Given the description of an element on the screen output the (x, y) to click on. 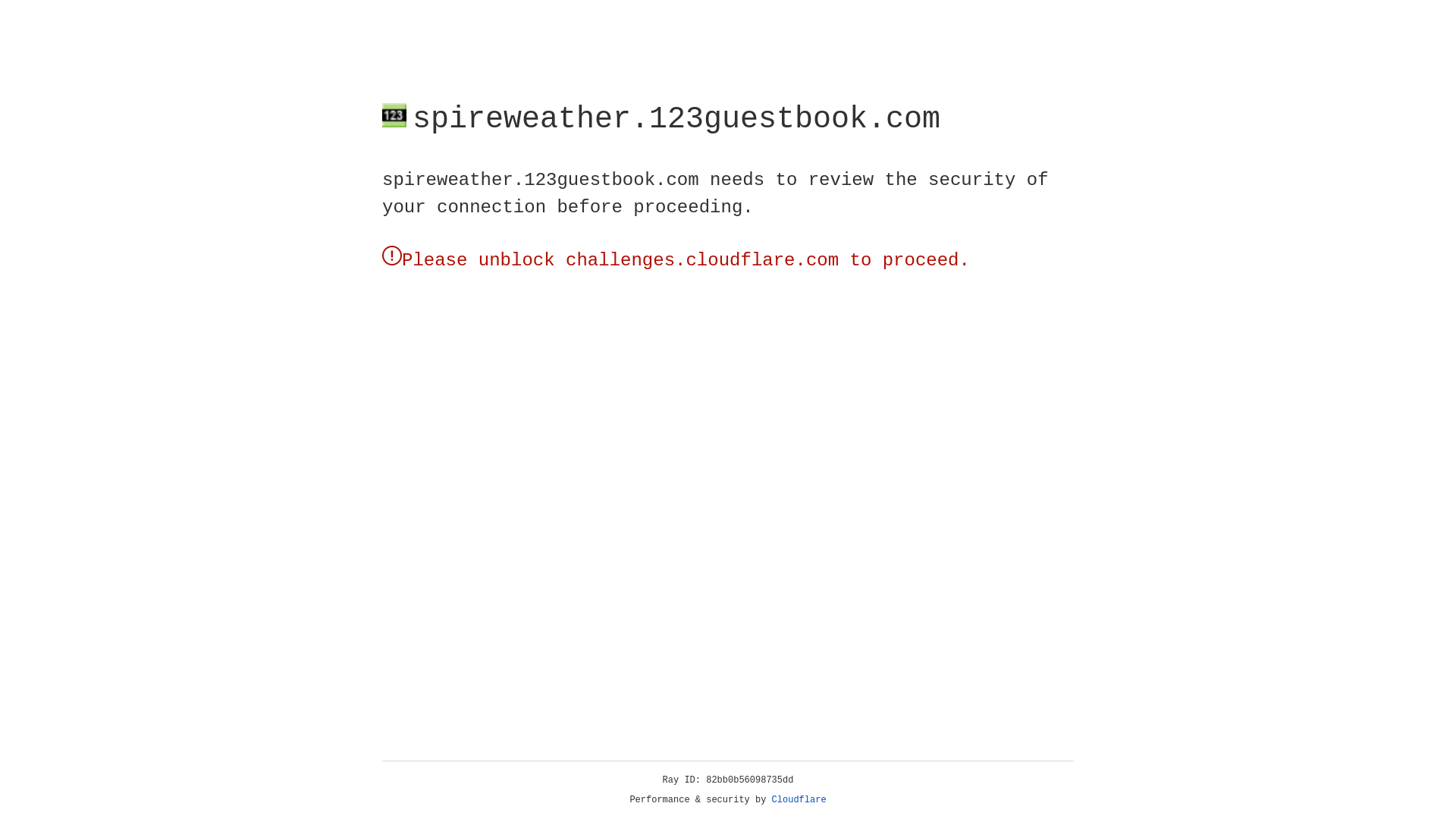
Cloudflare Element type: text (798, 799)
